Given the description of an element on the screen output the (x, y) to click on. 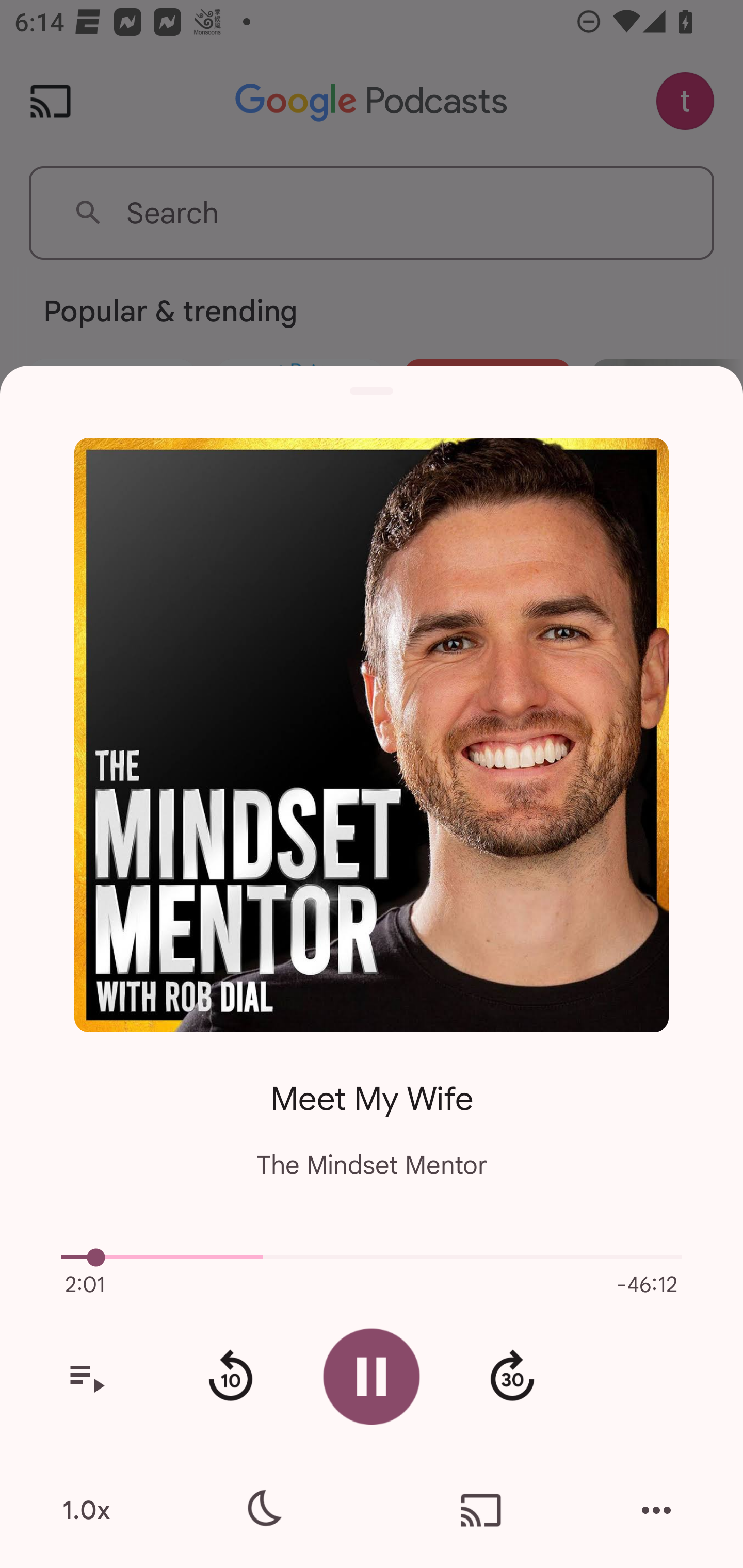
Open the show page for The Mindset Mentor (371, 734)
Meet My Wife The Mindset Mentor (371, 1115)
419.0 Current episode playback (371, 1257)
Pause (371, 1376)
View your queue (86, 1376)
Rewind 10 seconds (230, 1376)
Fast forward 30 second (511, 1376)
1.0x Playback speed is 1.0. (86, 1510)
Sleep timer settings (261, 1510)
Cast. Disconnected (480, 1510)
More actions (655, 1510)
